Given the description of an element on the screen output the (x, y) to click on. 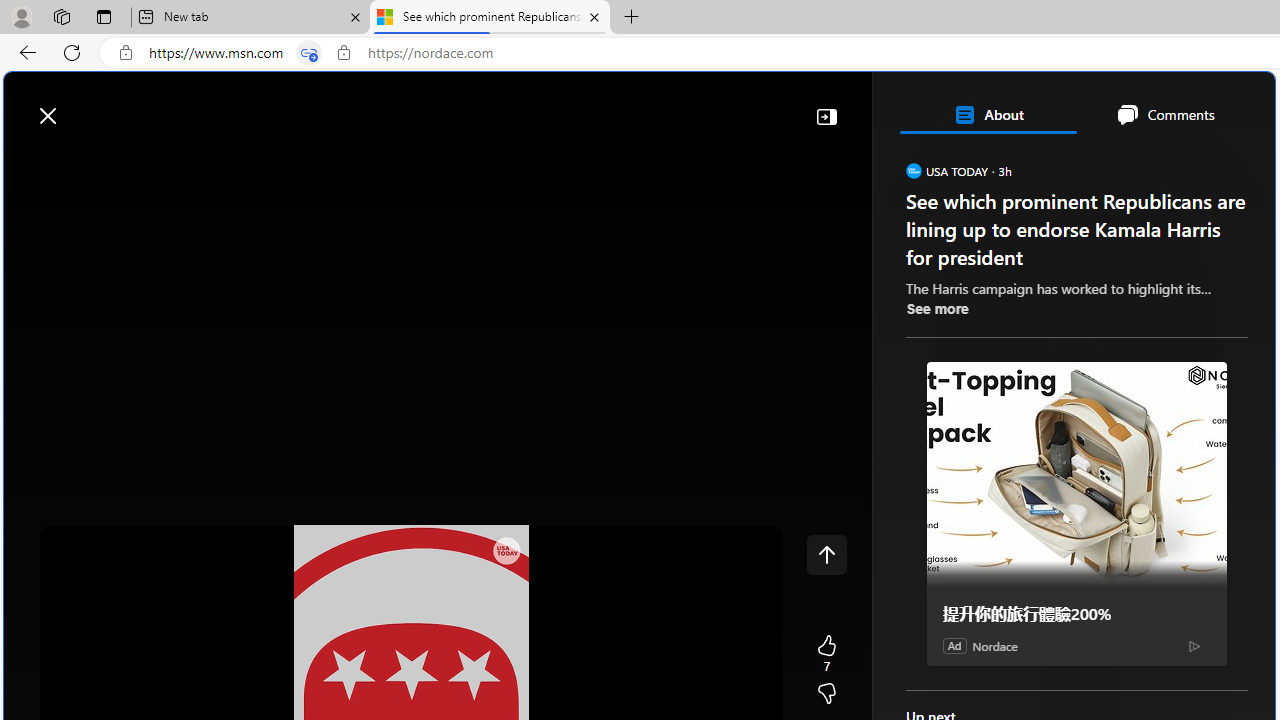
Class: button-glyph (29, 162)
Collapse (826, 115)
The Associated Press (974, 645)
